Given the description of an element on the screen output the (x, y) to click on. 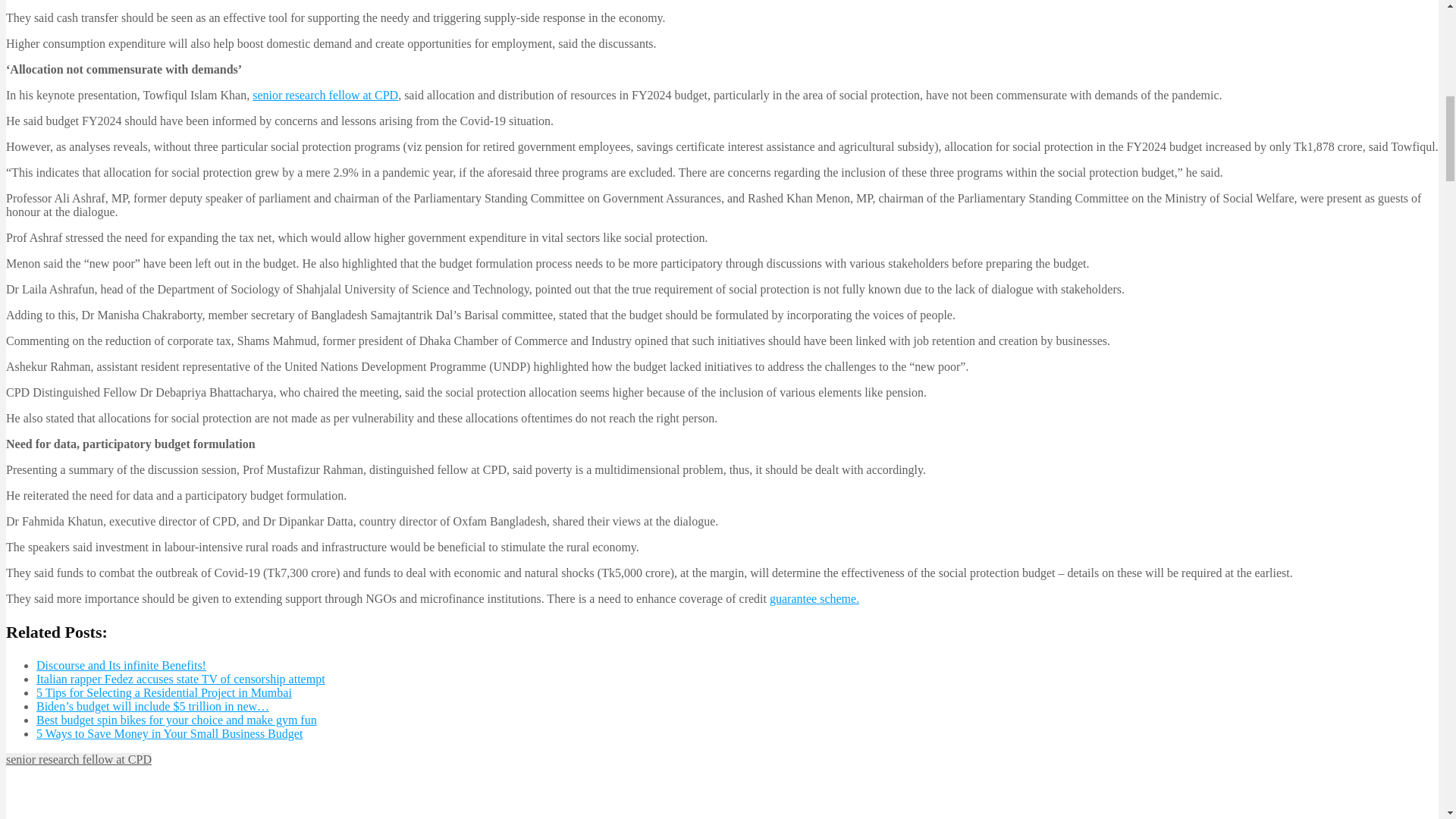
5 Ways to Save Money in Your Small Business Budget (169, 733)
guarantee scheme. (814, 598)
Discourse and Its infinite Benefits! (121, 665)
senior research fellow at CPD (78, 758)
Italian rapper Fedez accuses state TV of censorship attempt (180, 678)
Best budget spin bikes for your choice and make gym fun (176, 719)
senior research fellow at CPD (324, 94)
5 Tips for Selecting a Residential Project in Mumbai (164, 692)
